Given the description of an element on the screen output the (x, y) to click on. 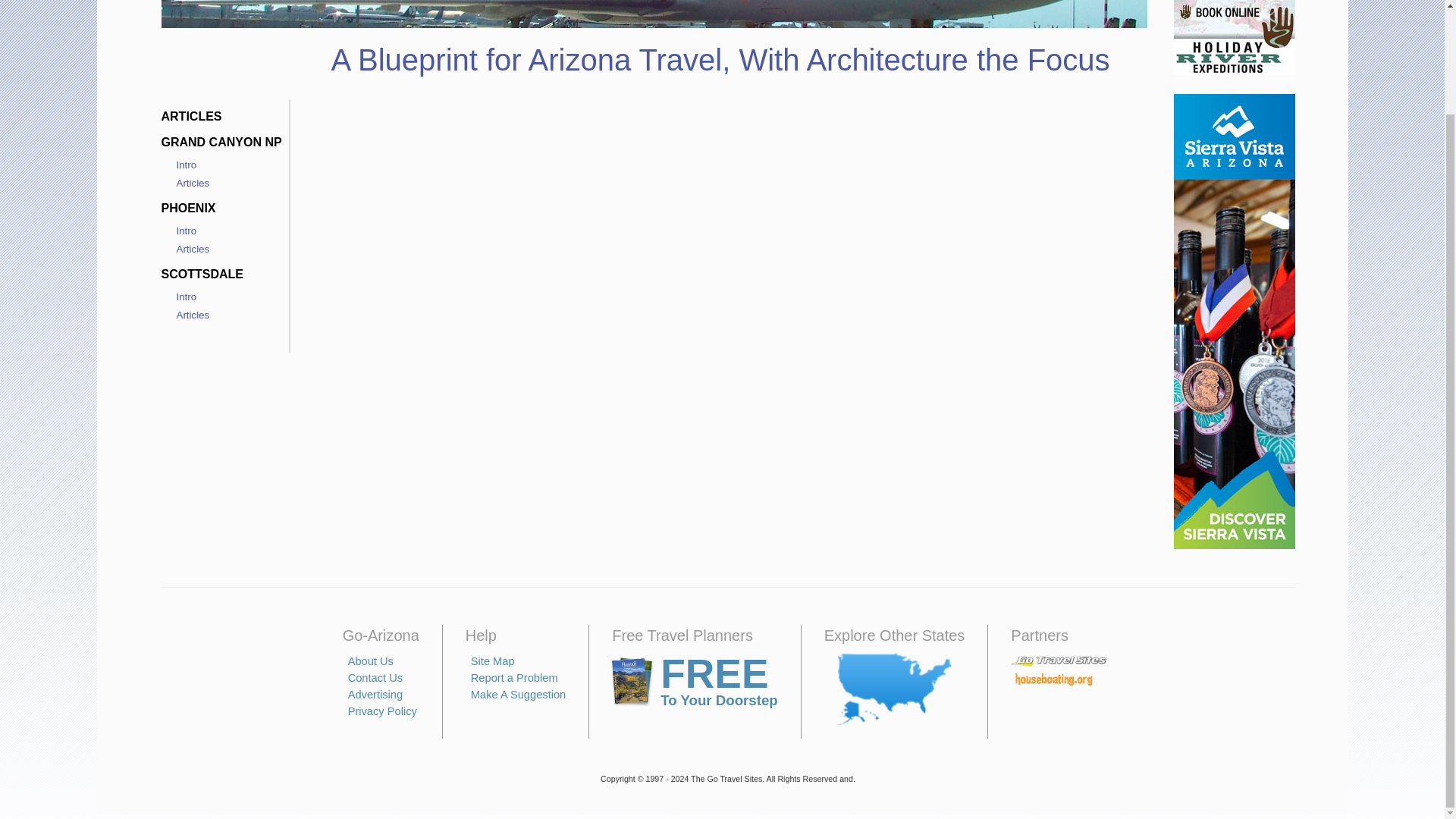
Click here to explore other Go Travel Sites (894, 688)
Contact Information for this site and the Go Travel Sites. (375, 677)
Information about this site and the Go Travel Sites. (370, 661)
Request Your Arizona Travel Information (694, 681)
A record of major sections of this website. (492, 661)
Information about advertising on this site. (375, 694)
